Given the description of an element on the screen output the (x, y) to click on. 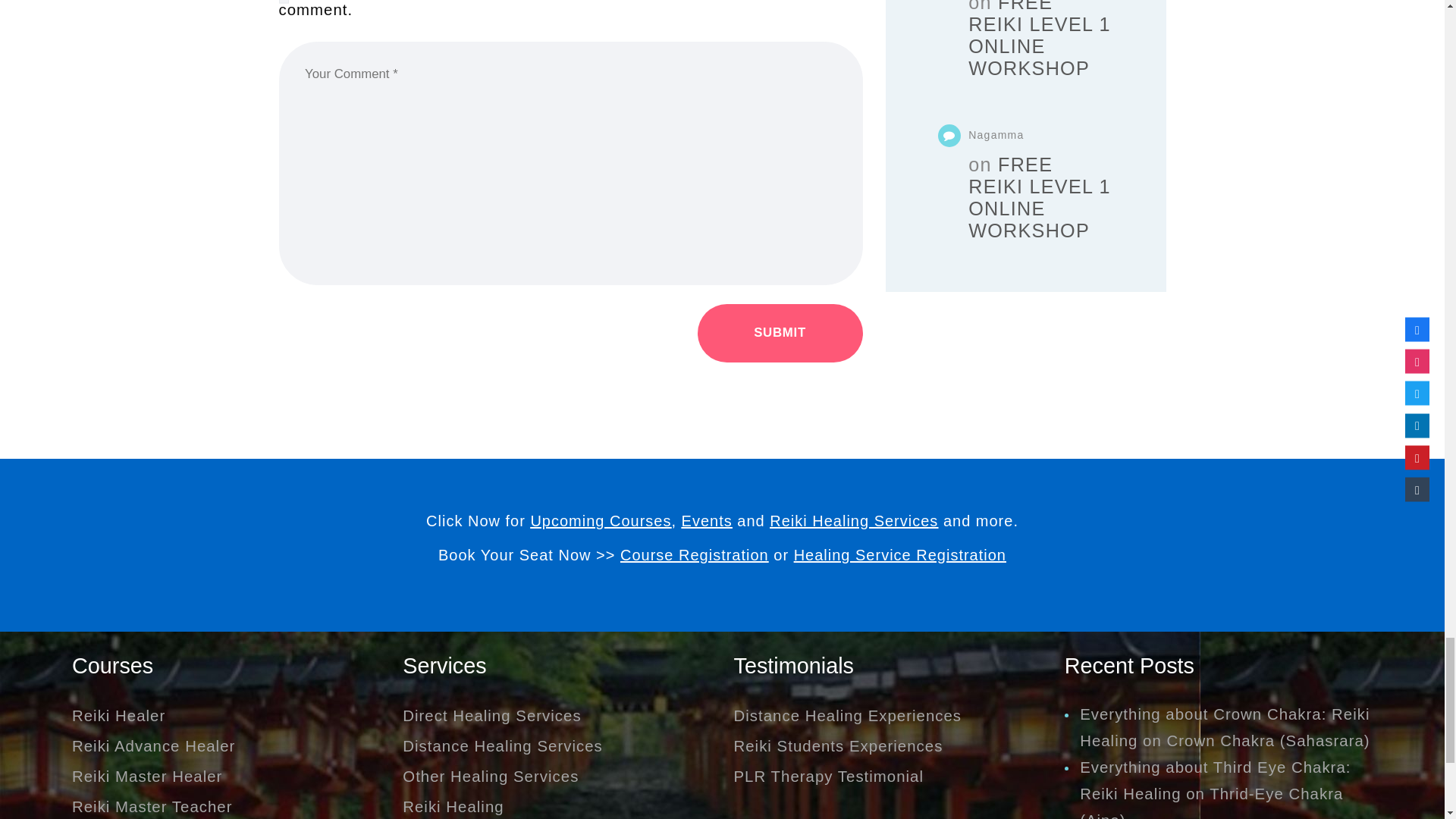
Submit (780, 332)
